Given the description of an element on the screen output the (x, y) to click on. 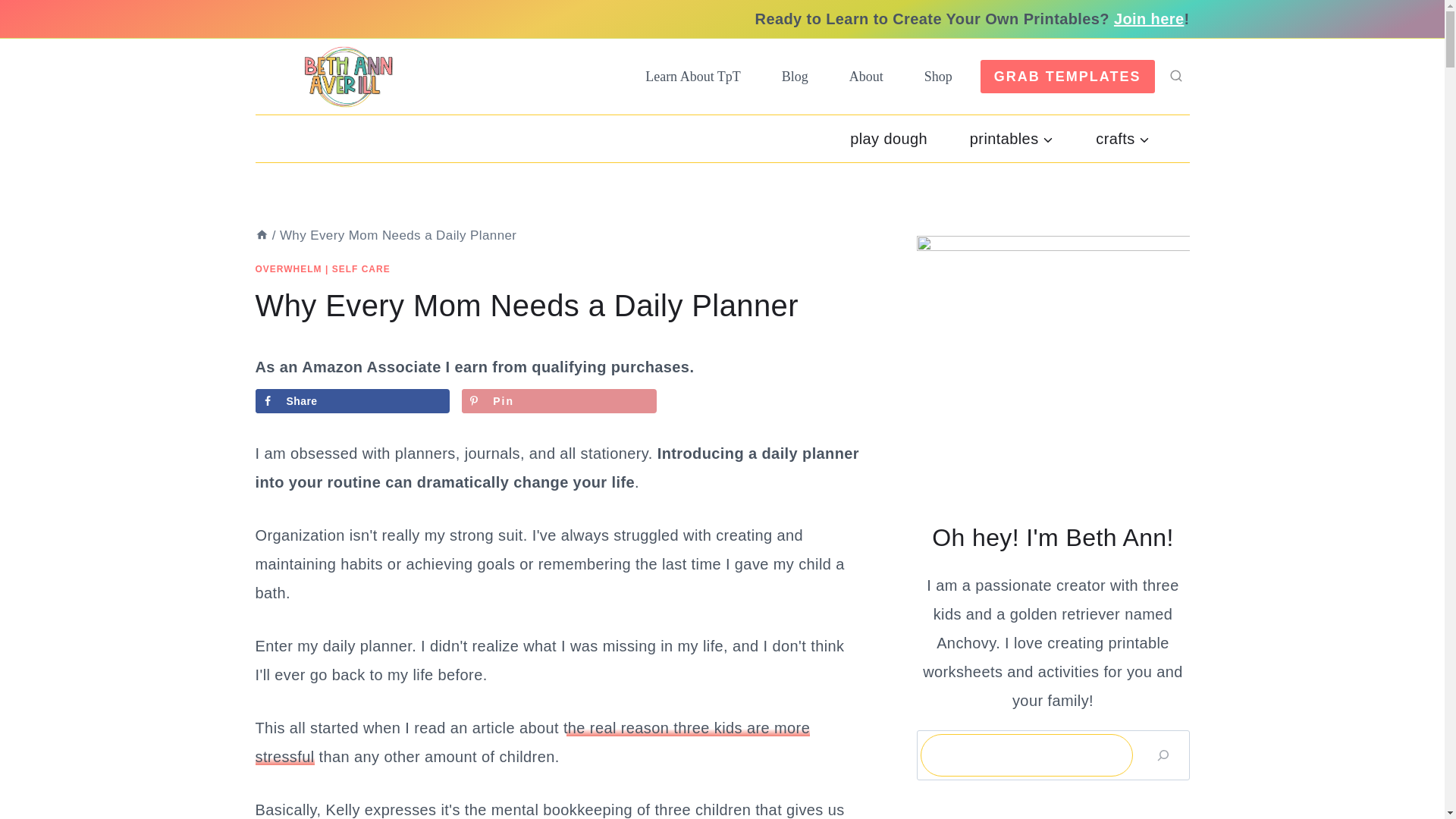
play dough (888, 138)
OVERWHELM (287, 268)
the real reason three kids are more stressful (531, 741)
Share (351, 401)
Pin (558, 401)
Share on Facebook (351, 401)
Learn About TpT (692, 76)
Home (260, 235)
printables (1012, 138)
Shop (938, 76)
